Given the description of an element on the screen output the (x, y) to click on. 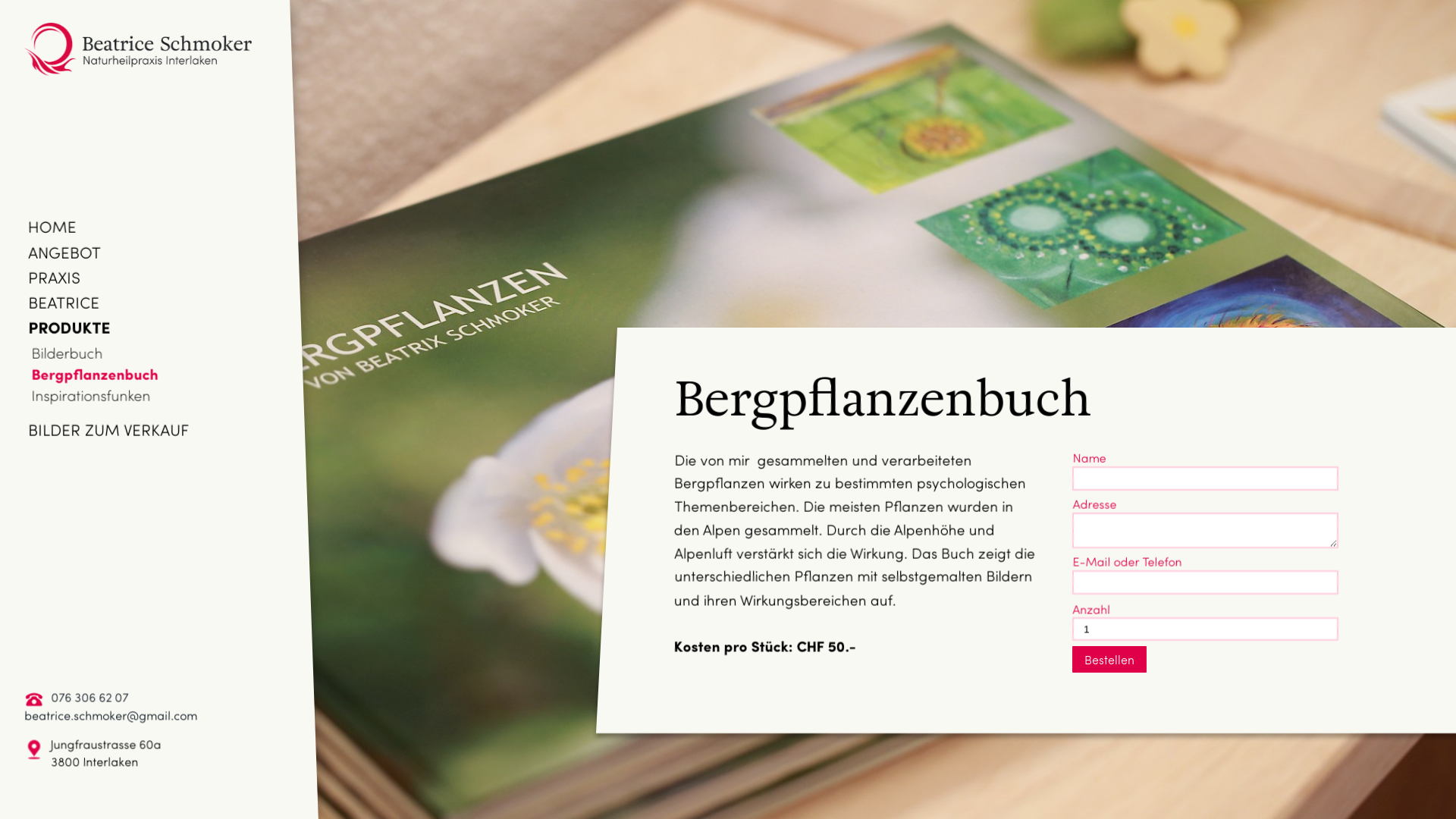
ANGEBOT Element type: text (64, 251)
PRODUKTE Element type: text (68, 326)
Inspirationsfunken Element type: text (90, 394)
BEATRICE Element type: text (63, 301)
HOME Element type: text (52, 225)
beatrice.schmoker@gmail.com Element type: text (110, 714)
BILDER ZUM VERKAUF Element type: text (108, 428)
076 306 62 07 Element type: text (89, 696)
Bergpflanzenbuch Element type: text (94, 373)
Bilderbuch Element type: text (67, 352)
PRAXIS Element type: text (54, 276)
